Given the description of an element on the screen output the (x, y) to click on. 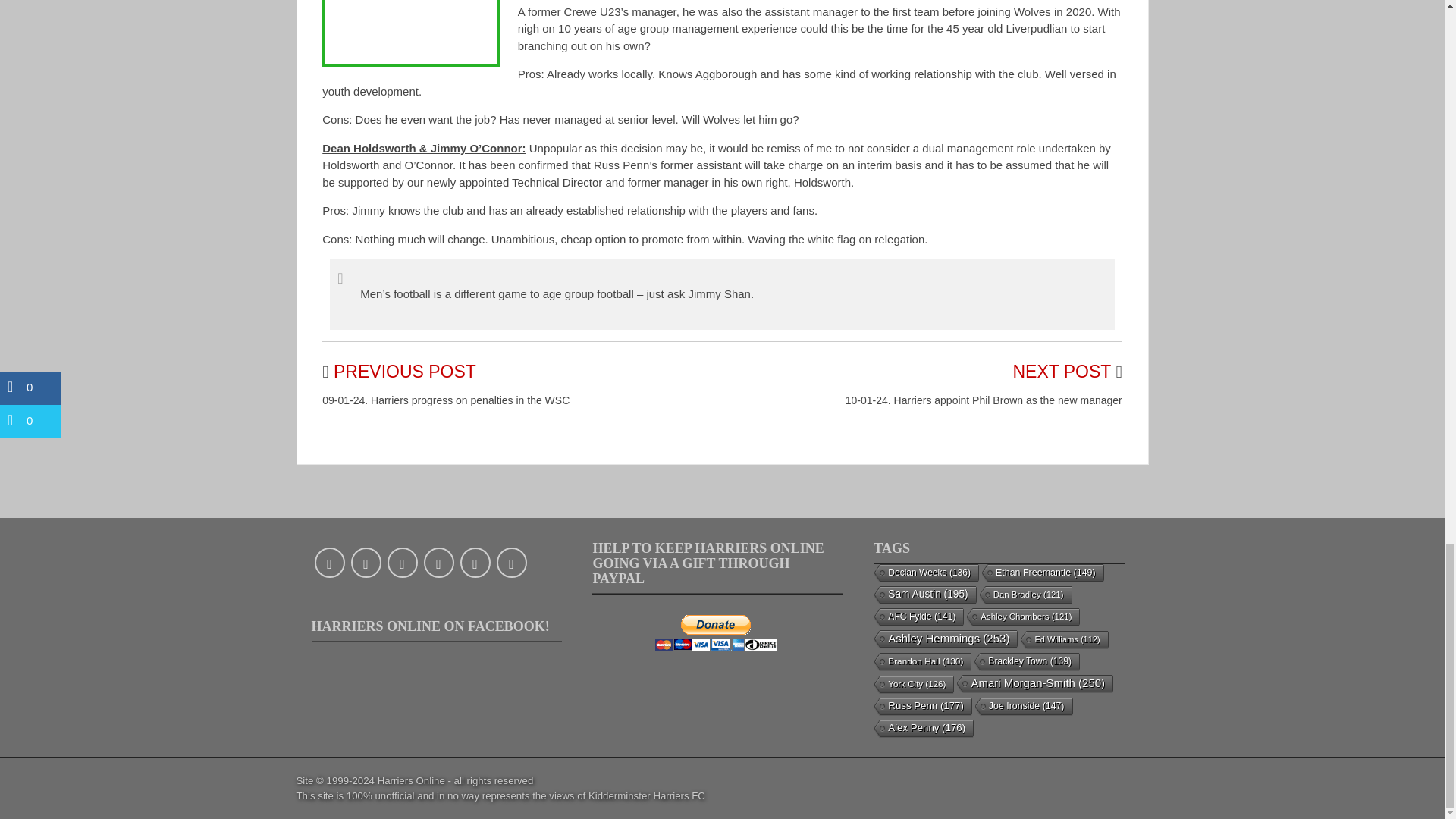
Twitter (365, 562)
Flickr (474, 562)
YouTube (401, 562)
Email (510, 562)
Facebook (328, 562)
Instagram (437, 562)
